Given the description of an element on the screen output the (x, y) to click on. 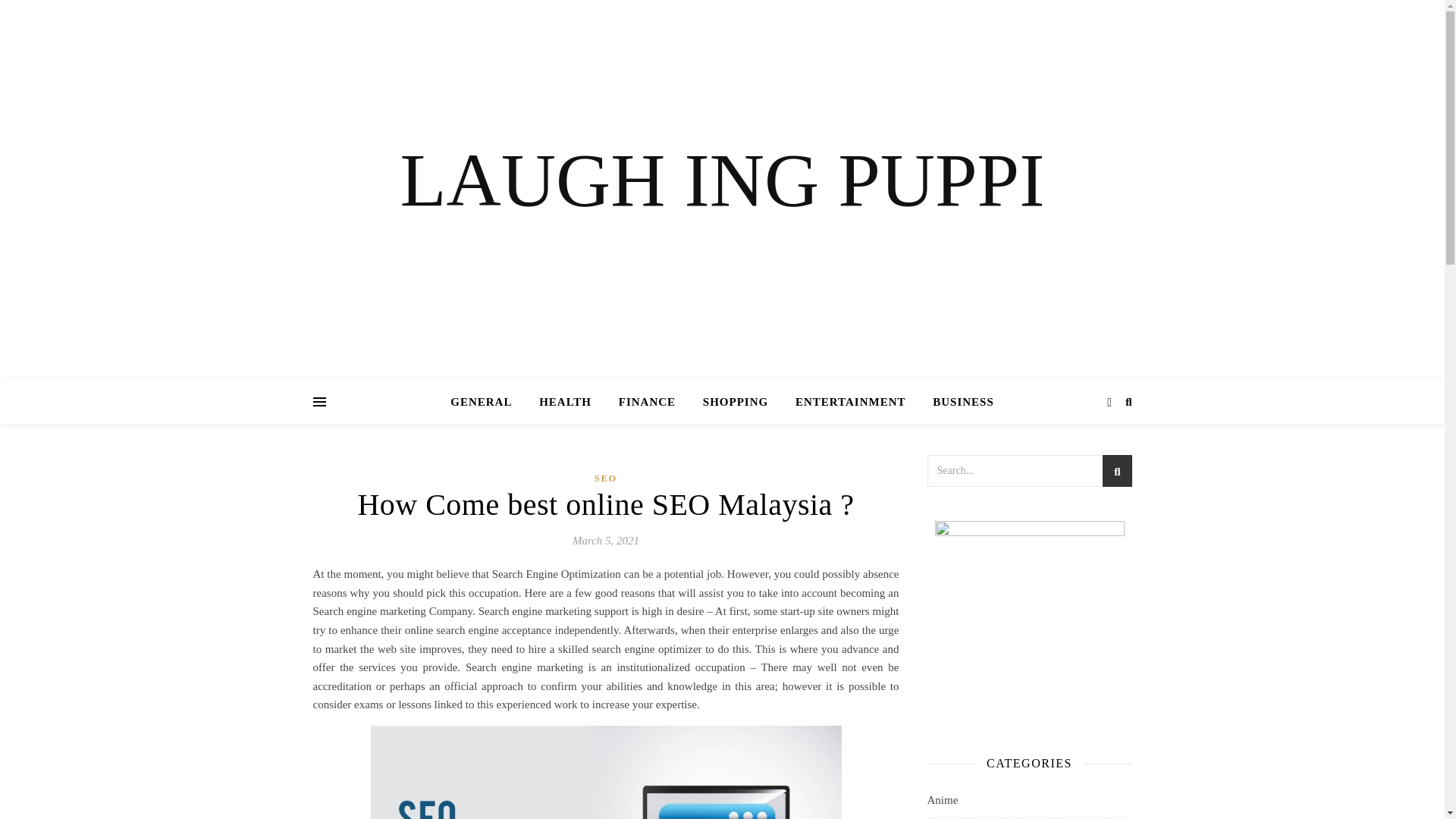
HEALTH (565, 402)
Anime (942, 799)
ENTERTAINMENT (850, 402)
SHOPPING (735, 402)
SEO (605, 478)
FINANCE (647, 402)
Applications (955, 818)
GENERAL (486, 402)
BUSINESS (957, 402)
